Given the description of an element on the screen output the (x, y) to click on. 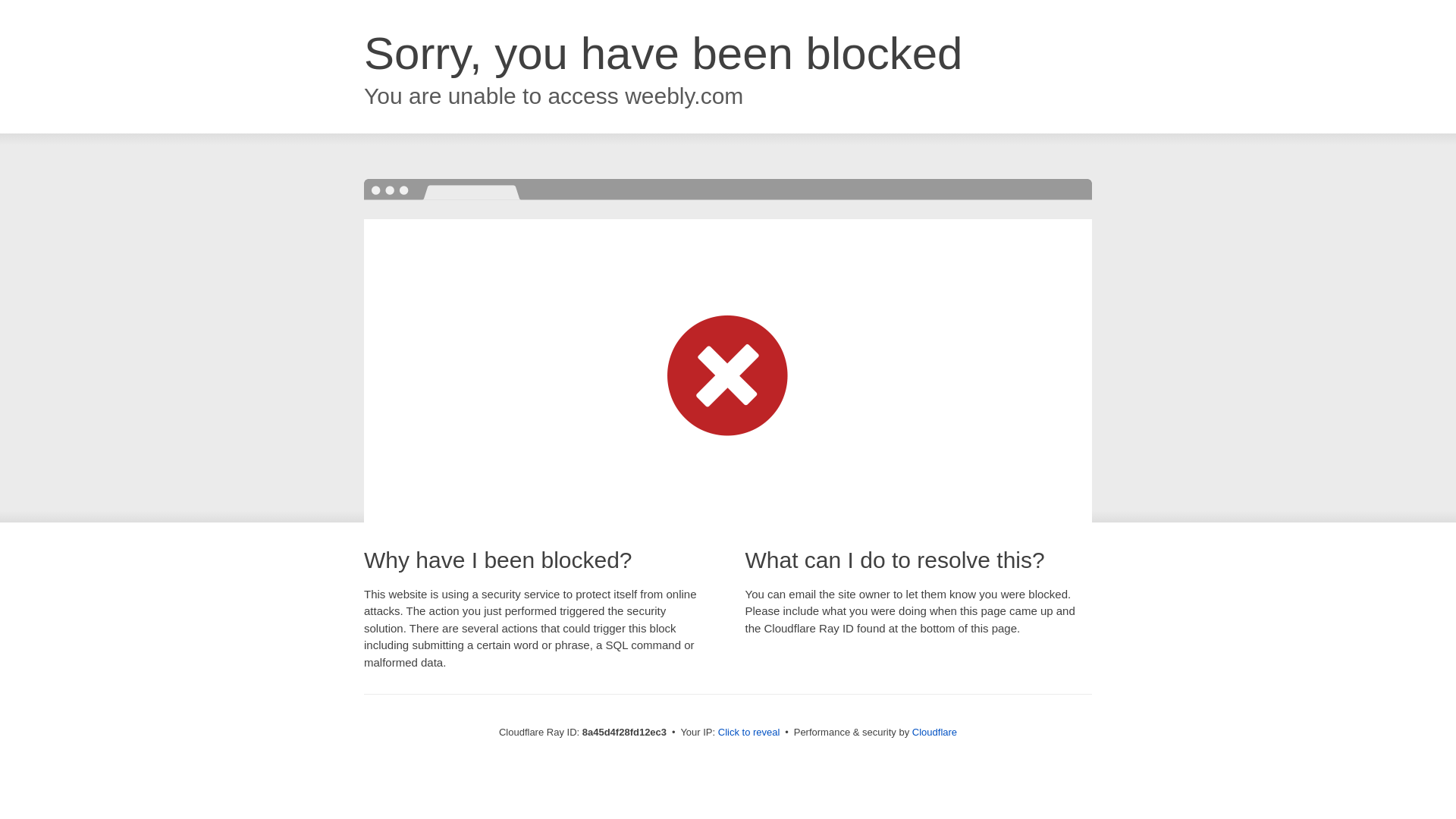
Click to reveal (748, 732)
Cloudflare (934, 731)
